Given the description of an element on the screen output the (x, y) to click on. 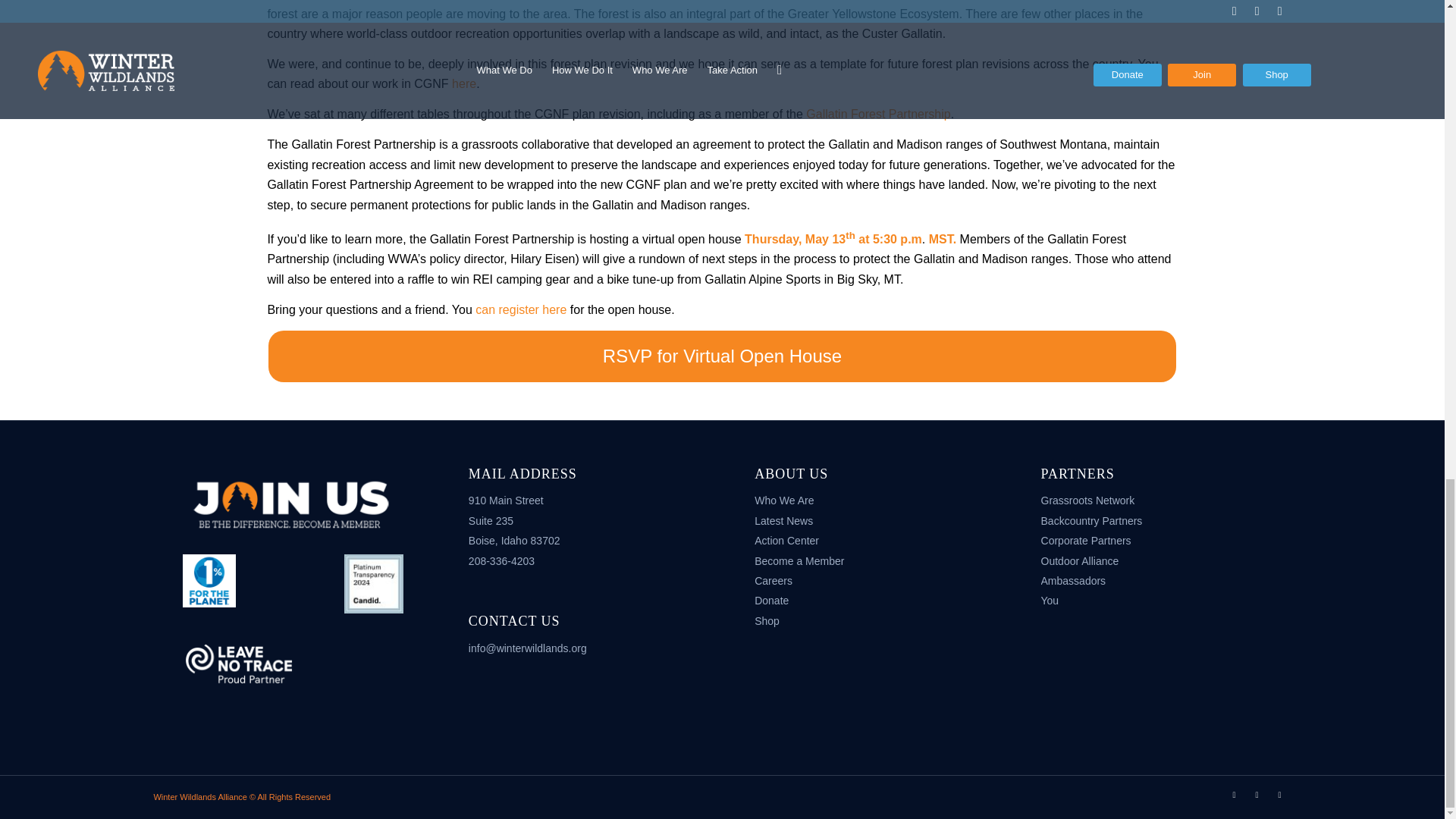
Facebook (1257, 793)
Instagram (1279, 793)
Twitter (1234, 793)
